Given the description of an element on the screen output the (x, y) to click on. 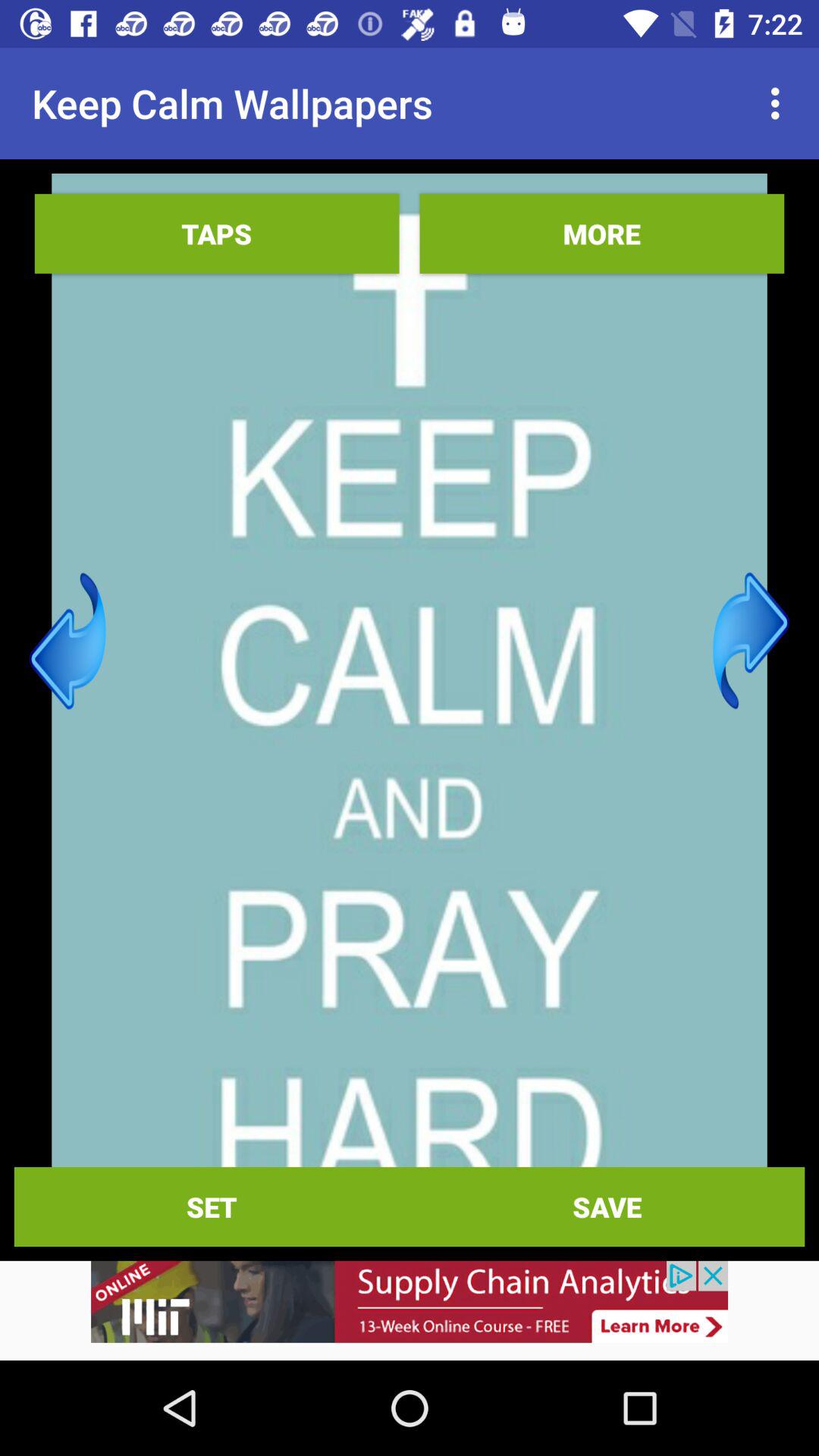
interact with advertisement (409, 1310)
